Given the description of an element on the screen output the (x, y) to click on. 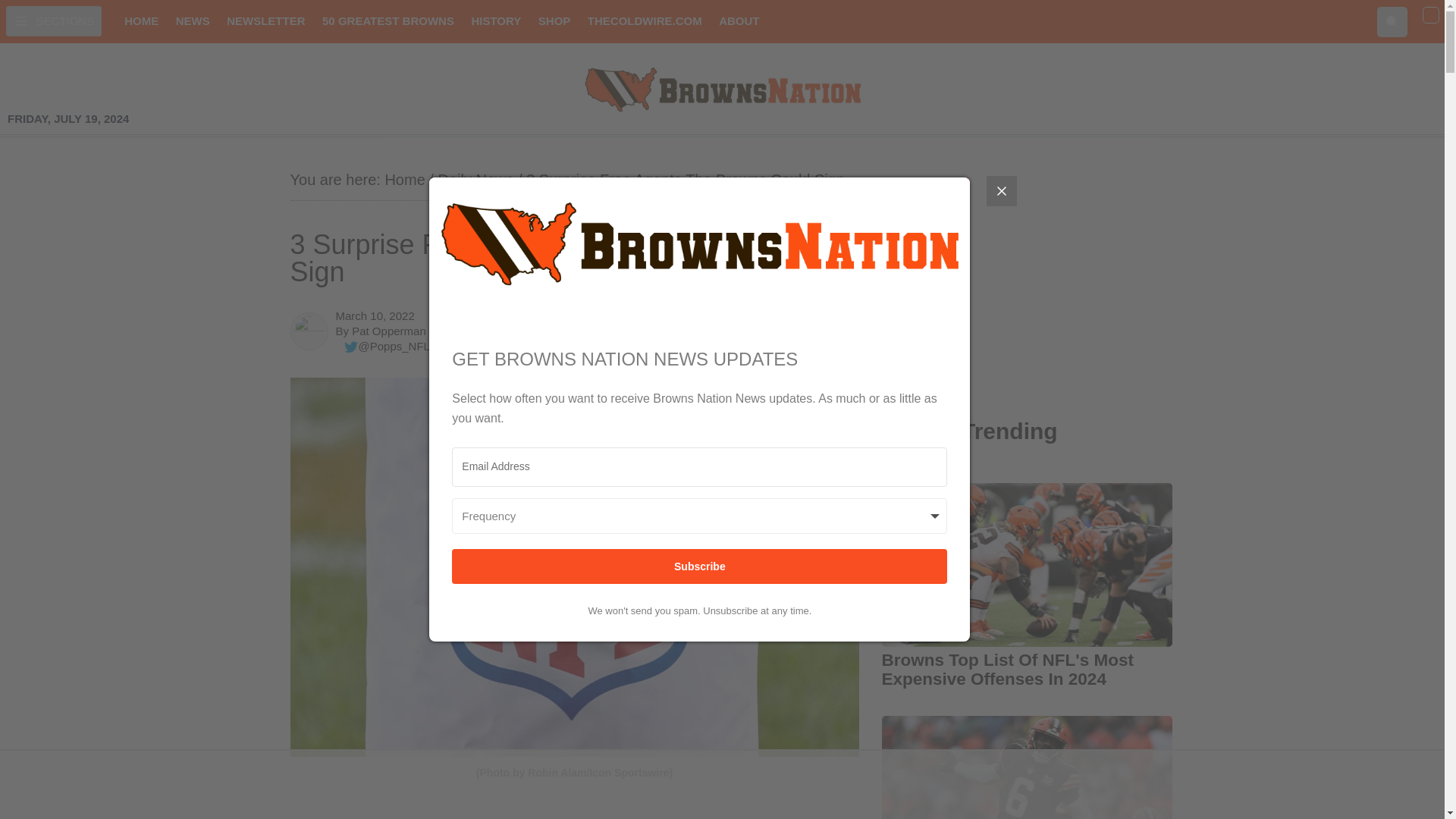
50 GREATEST BROWNS (387, 21)
HOME (140, 21)
NEWS (192, 21)
HISTORY (495, 21)
Open Menu (53, 20)
THECOLDWIRE.COM (644, 21)
NEWSLETTER (265, 21)
BROWNS NATION (722, 88)
Search (1392, 20)
ABOUT (738, 21)
SECTIONS (53, 20)
SHOP (554, 21)
